Given the description of an element on the screen output the (x, y) to click on. 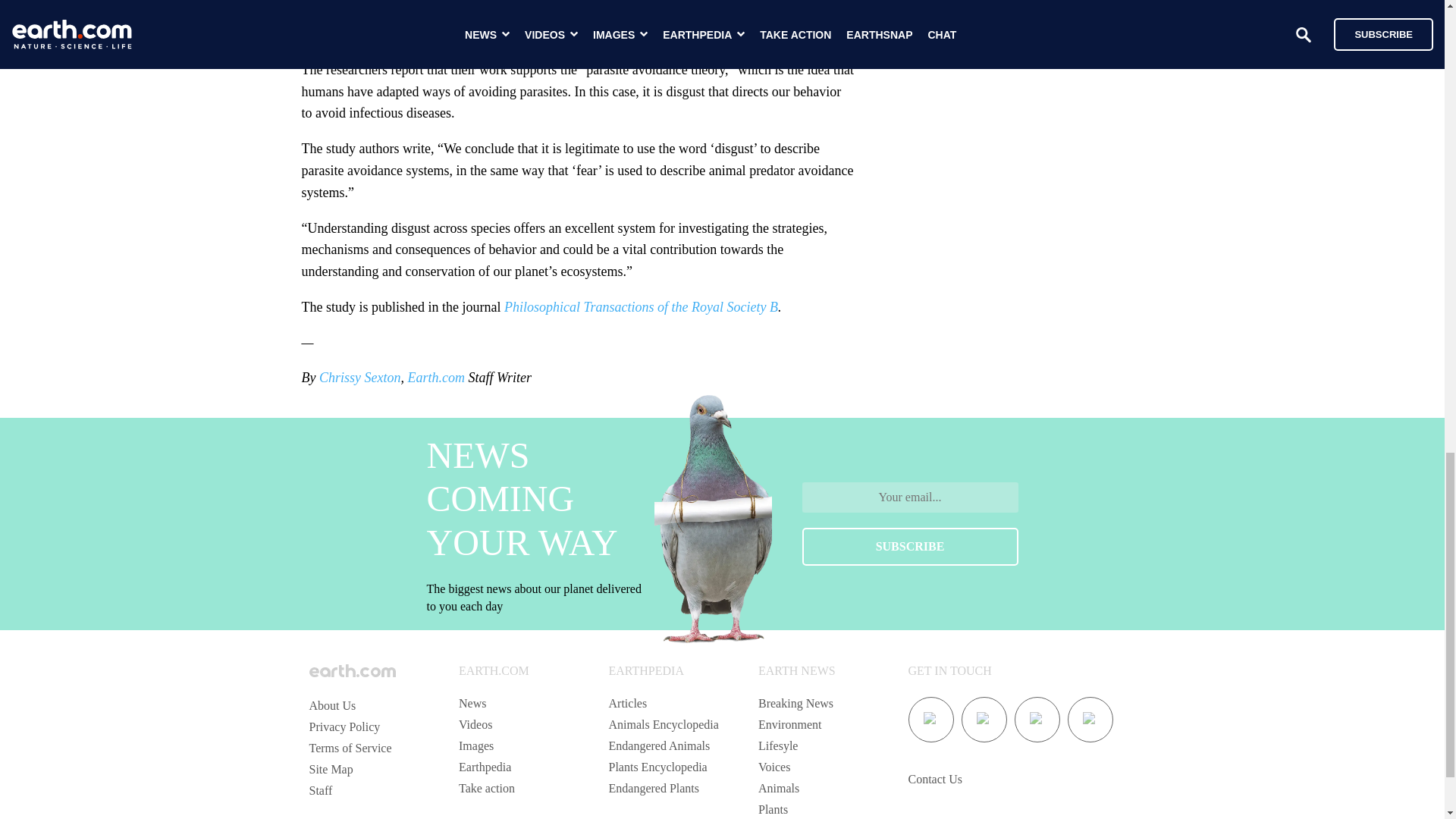
Chrissy Sexton (359, 377)
Earth.com (435, 377)
Philosophical Transactions of the Royal Society B (638, 306)
